Given the description of an element on the screen output the (x, y) to click on. 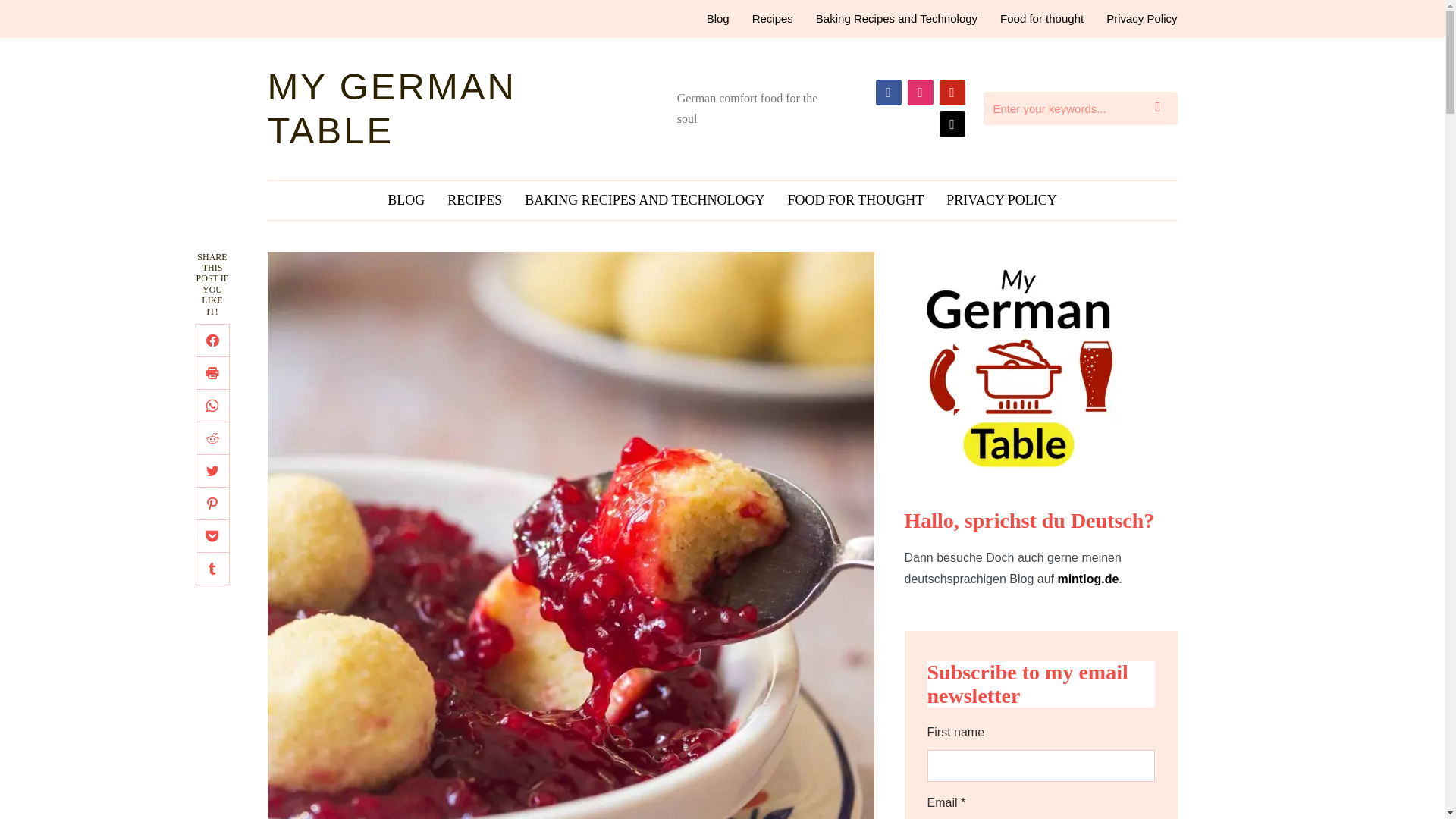
Click to share on Facebook (212, 340)
Baking Recipes and Technology (896, 18)
FOOD FOR THOUGHT (856, 200)
BLOG (405, 200)
MY GERMAN TABLE (390, 107)
RECIPES (474, 200)
mail (951, 123)
Click to share on Tumblr (212, 568)
Search (1161, 108)
Default Label (888, 91)
